Given the description of an element on the screen output the (x, y) to click on. 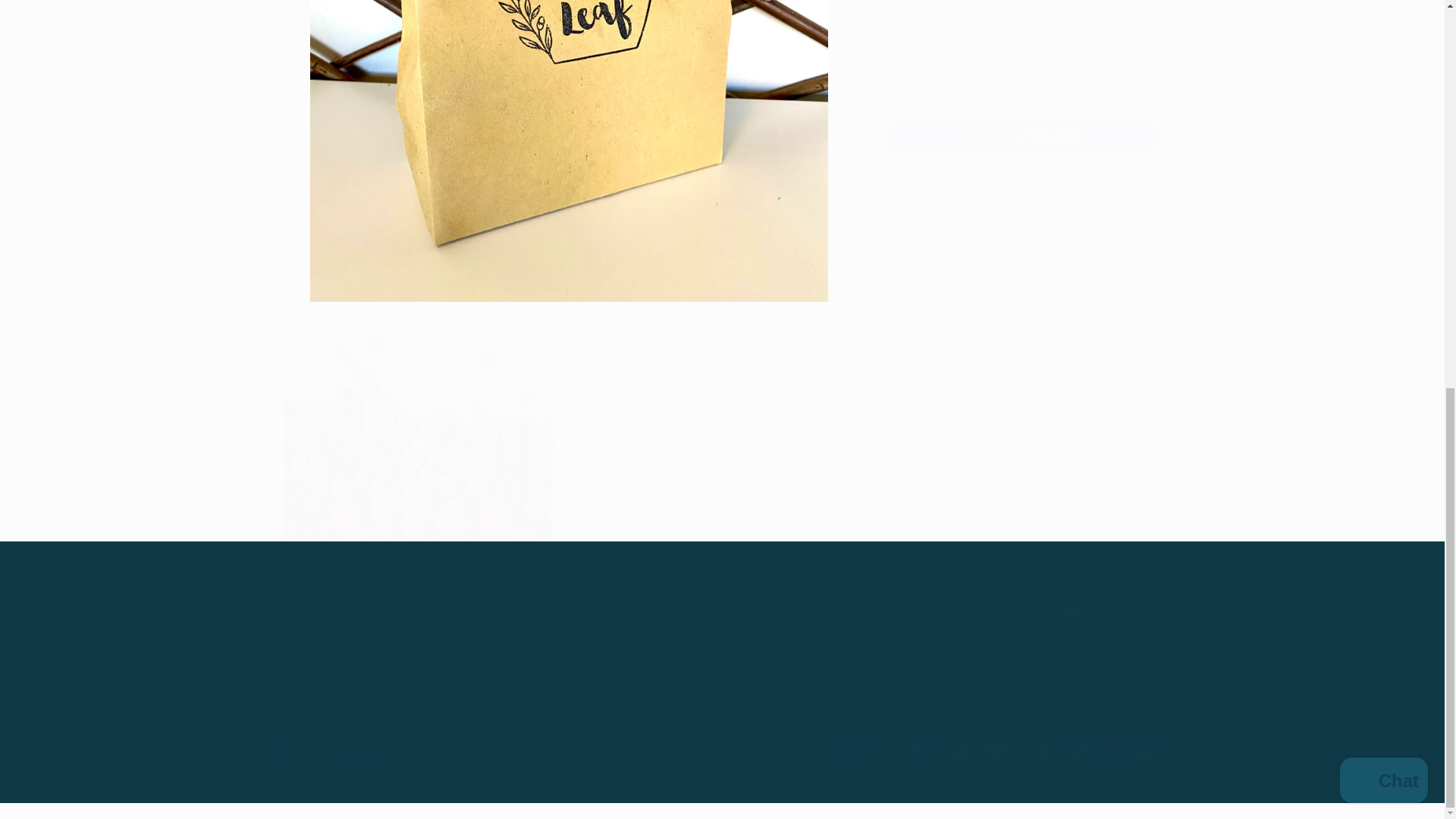
Open media 2 in modal (418, 420)
Shopify online store chat (1383, 46)
Open media 1 in modal (721, 614)
